Given the description of an element on the screen output the (x, y) to click on. 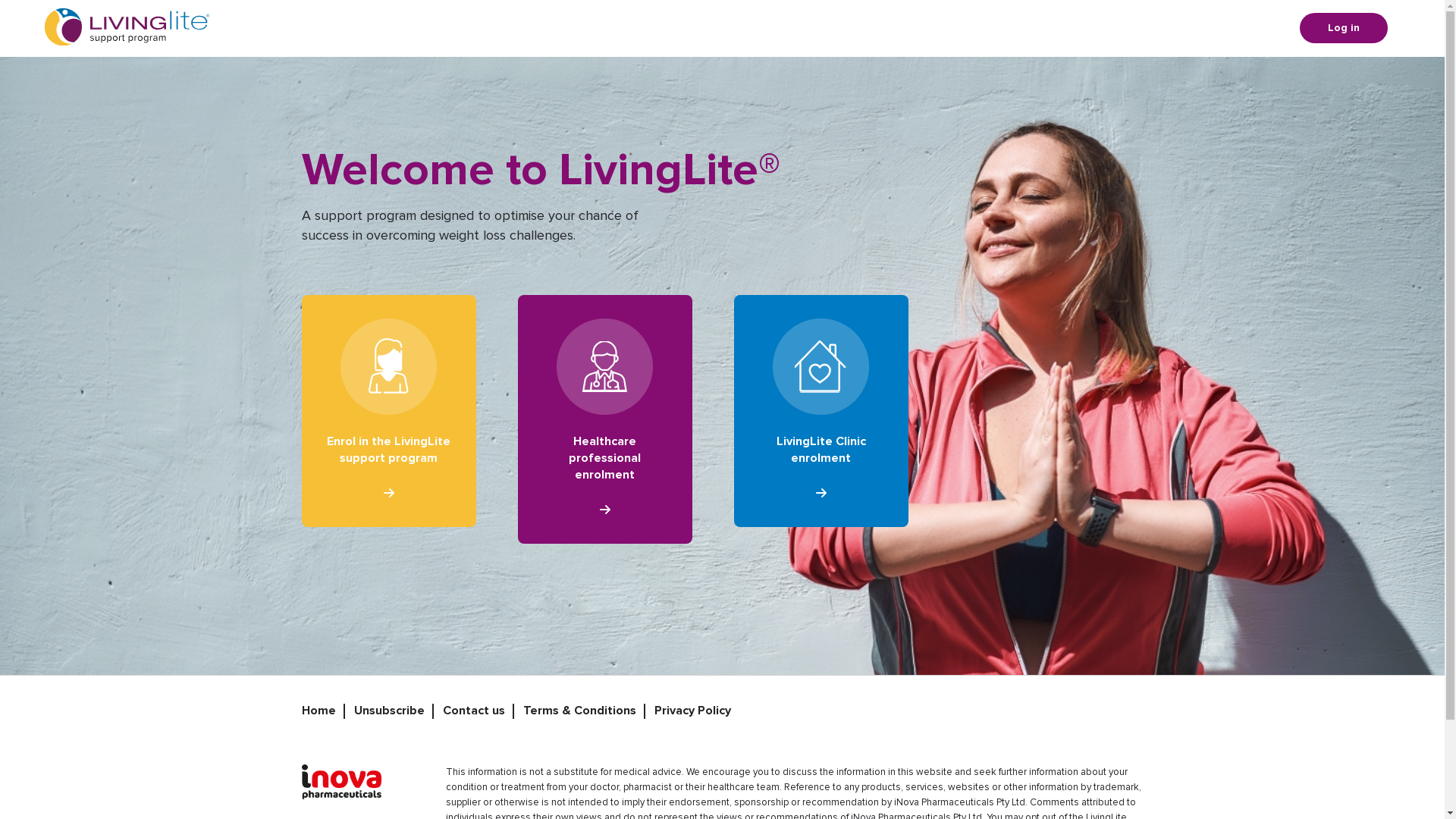
Healthcare professional enrolment Element type: text (604, 418)
Home Element type: text (318, 710)
Continue Element type: text (604, 485)
LivingLite Clinic enrolment Element type: text (821, 410)
Unsubscribe Element type: text (388, 710)
Log in Element type: text (651, 459)
Contact us Element type: text (473, 710)
Log in Element type: text (1343, 27)
Enrol in the LivingLite support program Element type: text (388, 410)
Privacy Policy Element type: text (691, 710)
Terms & Conditions Element type: text (579, 710)
